Given the description of an element on the screen output the (x, y) to click on. 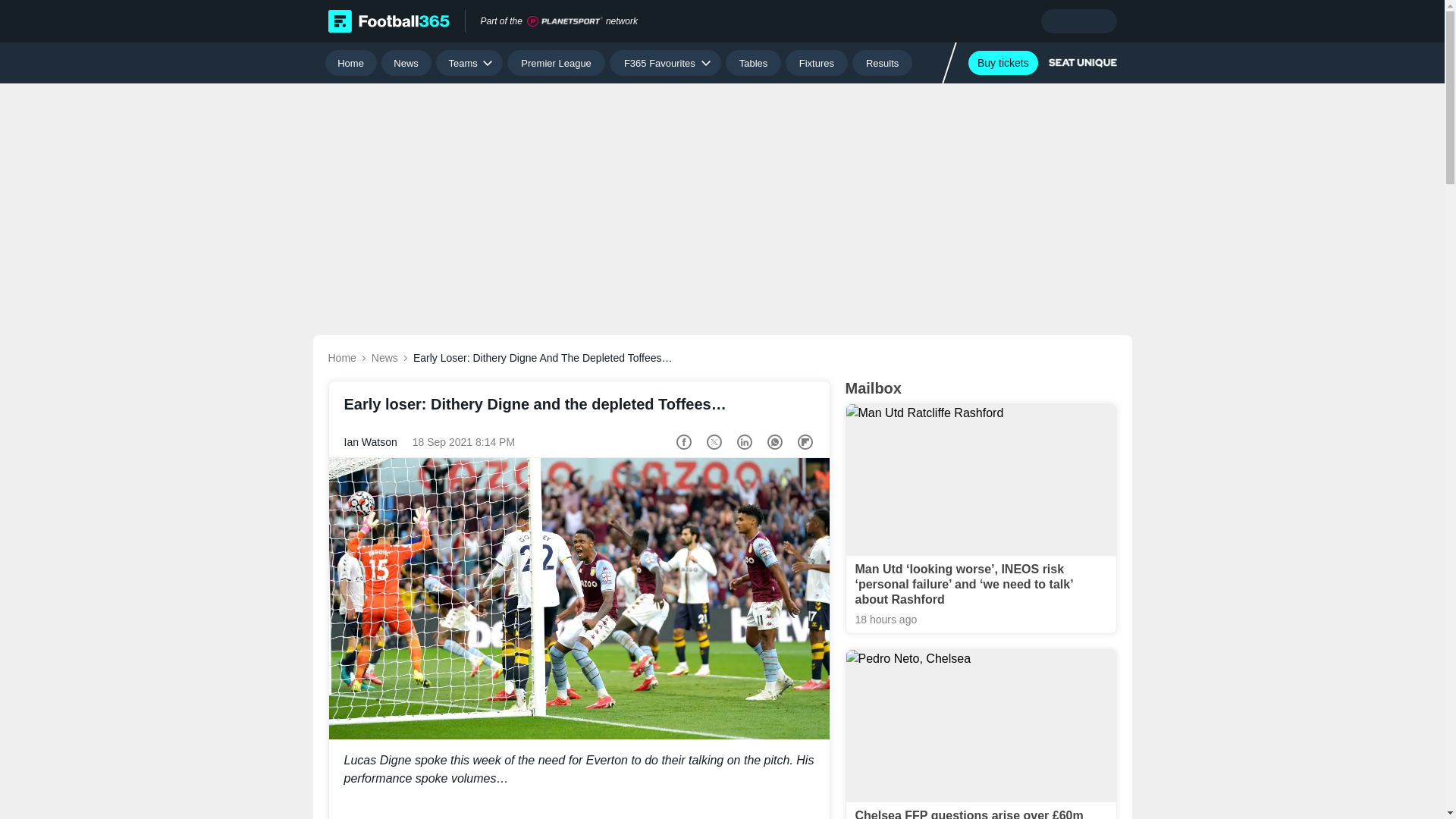
F365 Favourites (665, 62)
Fixtures (817, 62)
Tables (752, 62)
News (405, 62)
Premier League (555, 62)
Home (349, 62)
Teams (468, 62)
